Given the description of an element on the screen output the (x, y) to click on. 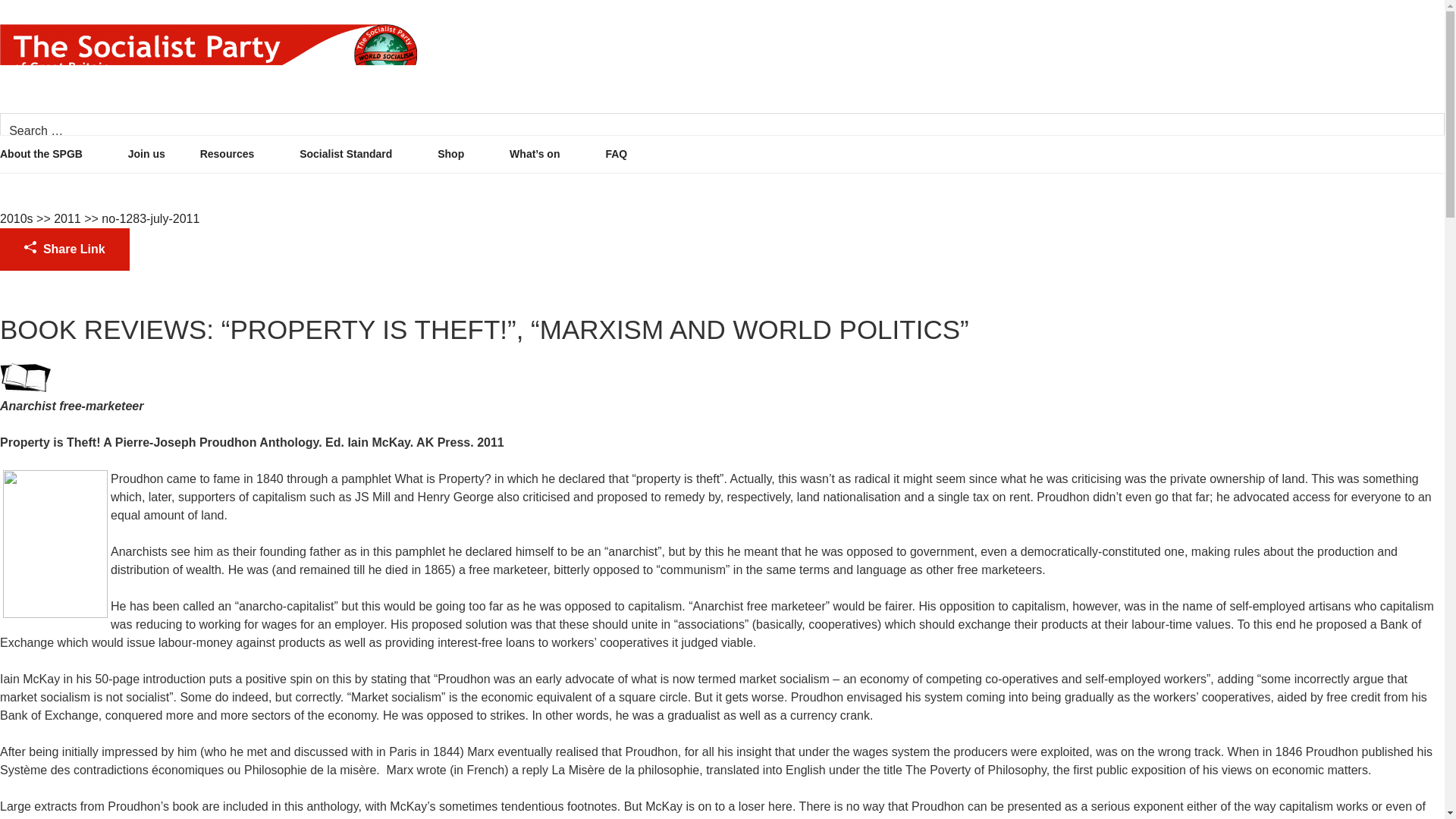
Resources (248, 153)
About the SPGB (62, 153)
Search (1405, 131)
Join us (162, 153)
